Given the description of an element on the screen output the (x, y) to click on. 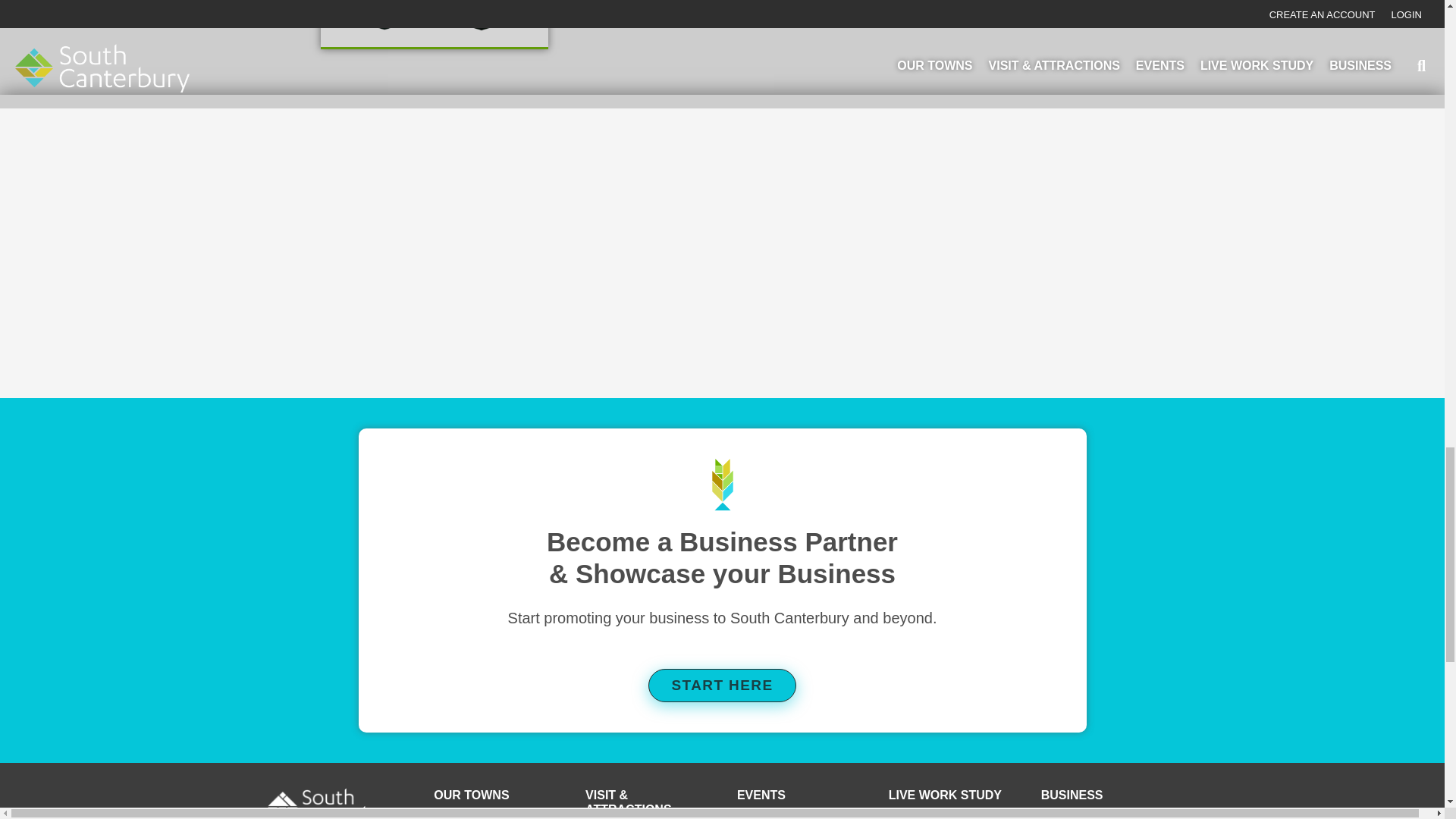
Web Flags 2024 - Large Business Award Sponsor (481, 16)
Sponsor Large Business (384, 16)
